Given the description of an element on the screen output the (x, y) to click on. 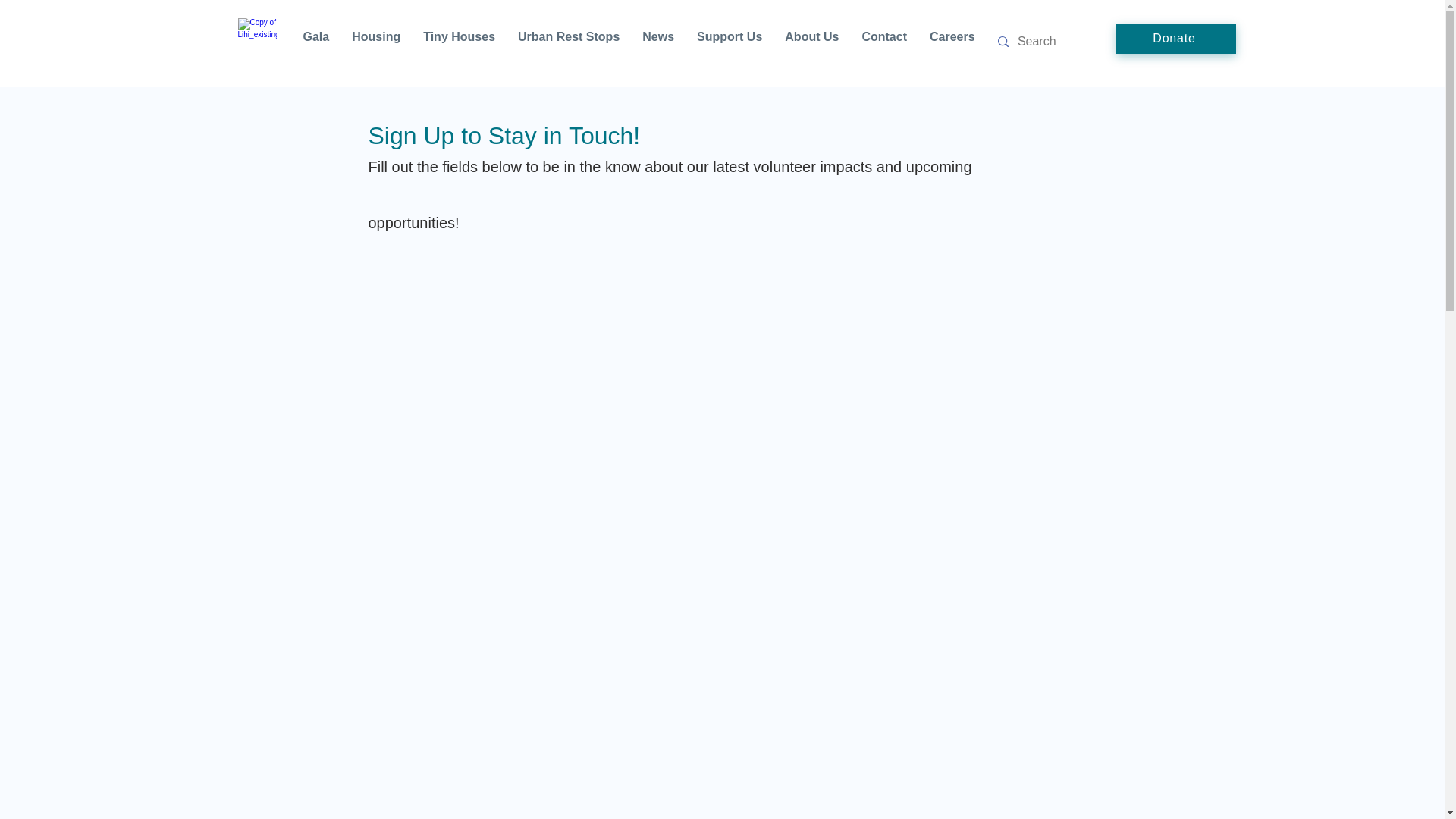
News (657, 41)
Contact (884, 41)
Urban Rest Stops (568, 41)
About Us (811, 41)
Donate (1176, 38)
Housing (376, 41)
Careers (952, 41)
Support Us (729, 41)
Tiny Houses (459, 41)
Gala (315, 41)
